Given the description of an element on the screen output the (x, y) to click on. 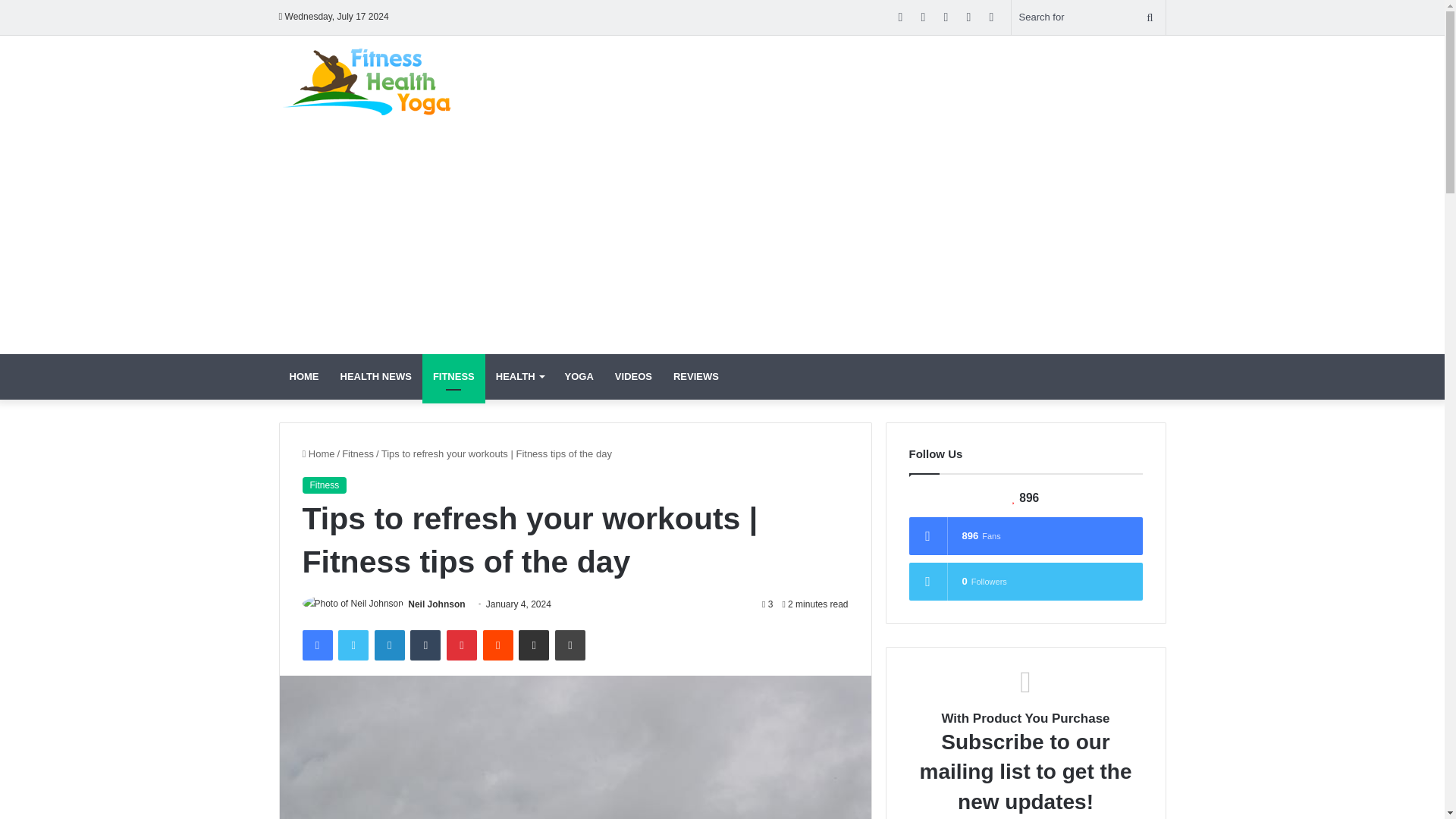
Facebook (316, 644)
VIDEOS (633, 375)
Share via Email (533, 644)
HOME (304, 375)
Neil Johnson (435, 603)
Neil Johnson (435, 603)
REVIEWS (695, 375)
Pinterest (461, 644)
Fitness Health Yoga (373, 80)
Pinterest (461, 644)
LinkedIn (389, 644)
YOGA (579, 375)
Print (569, 644)
Reddit (498, 644)
